Given the description of an element on the screen output the (x, y) to click on. 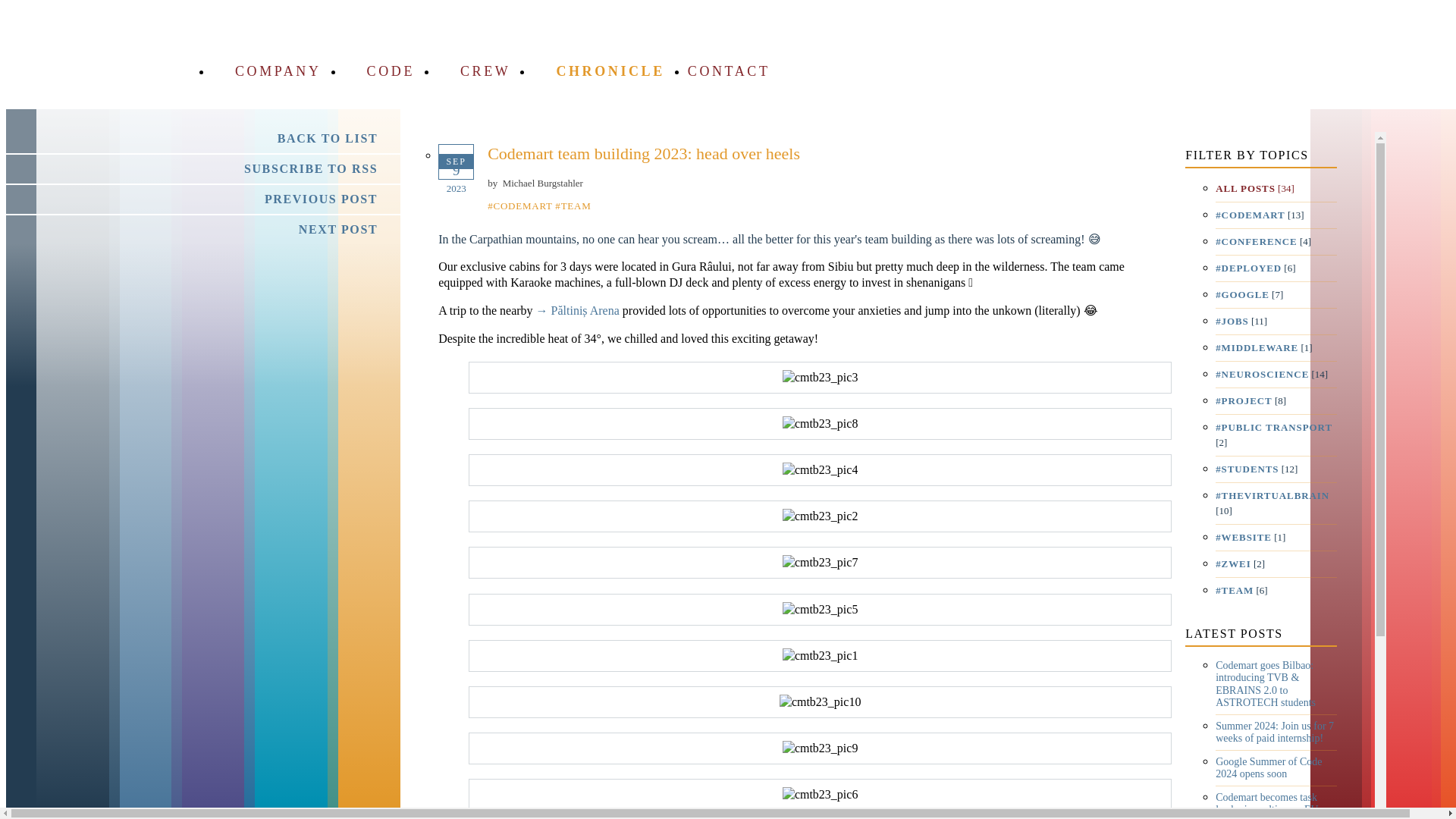
Who Codemart's people are... (508, 71)
Back to Homepage... (1173, 65)
CODEMART :: Software for Masterpieces (1173, 65)
COMPANY (301, 71)
What happens at Codemart... (632, 71)
What Codemart actually is... (301, 71)
CHRONICLE (632, 71)
What Codemart built... (413, 71)
CREW (508, 71)
How to reach Codemart and land a job... (728, 71)
CODE (413, 71)
CONTACT (728, 71)
